Given the description of an element on the screen output the (x, y) to click on. 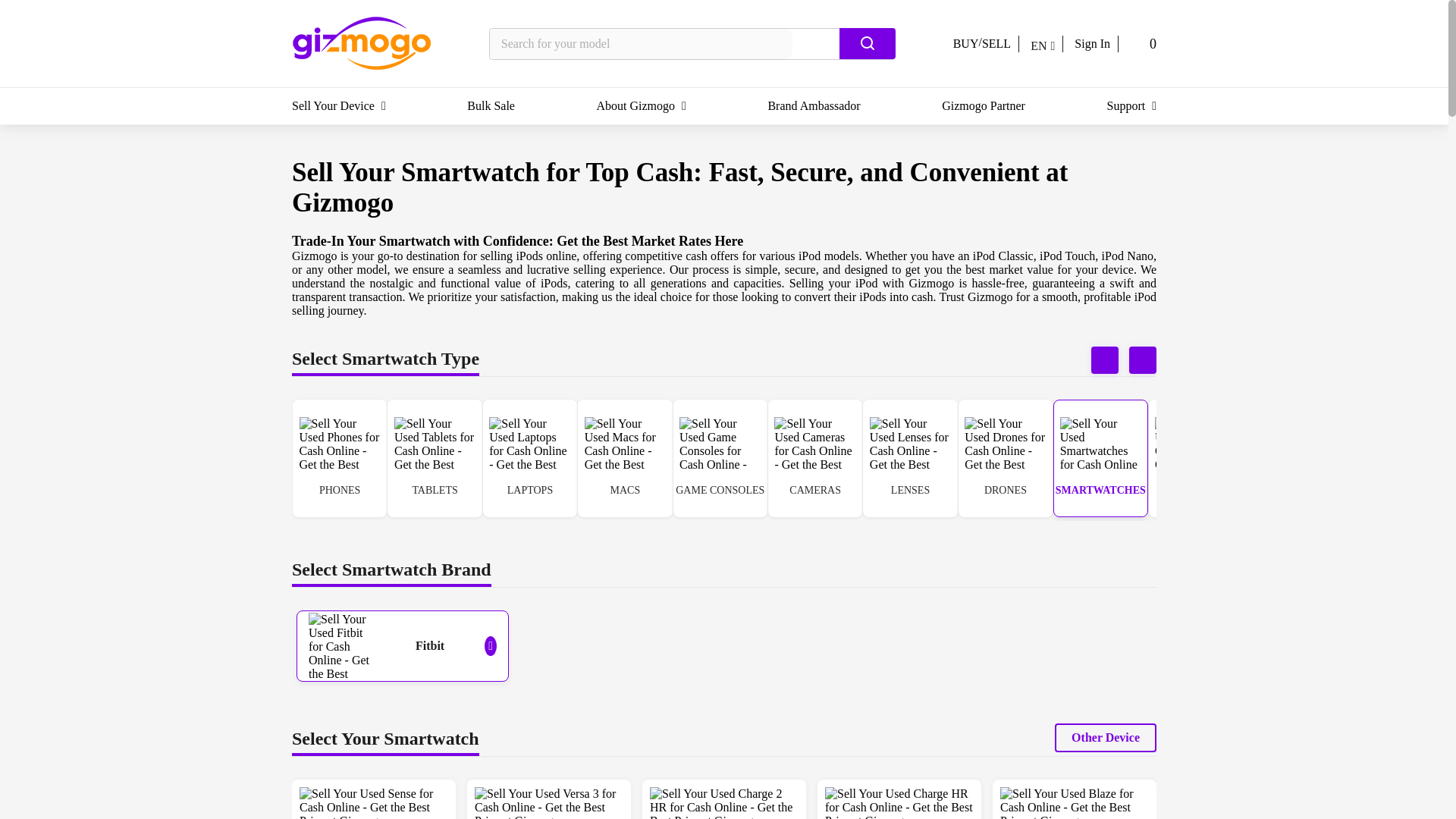
CAMERAS (814, 459)
PHONES (339, 459)
TABLETS (434, 459)
Bulk Sale (491, 105)
Brand Ambassador (813, 105)
DRONES (1005, 459)
LENSES (908, 459)
LAPTOPS (528, 459)
Gizmogo Partner (983, 105)
MACS (623, 459)
GAME CONSOLES (719, 459)
